Given the description of an element on the screen output the (x, y) to click on. 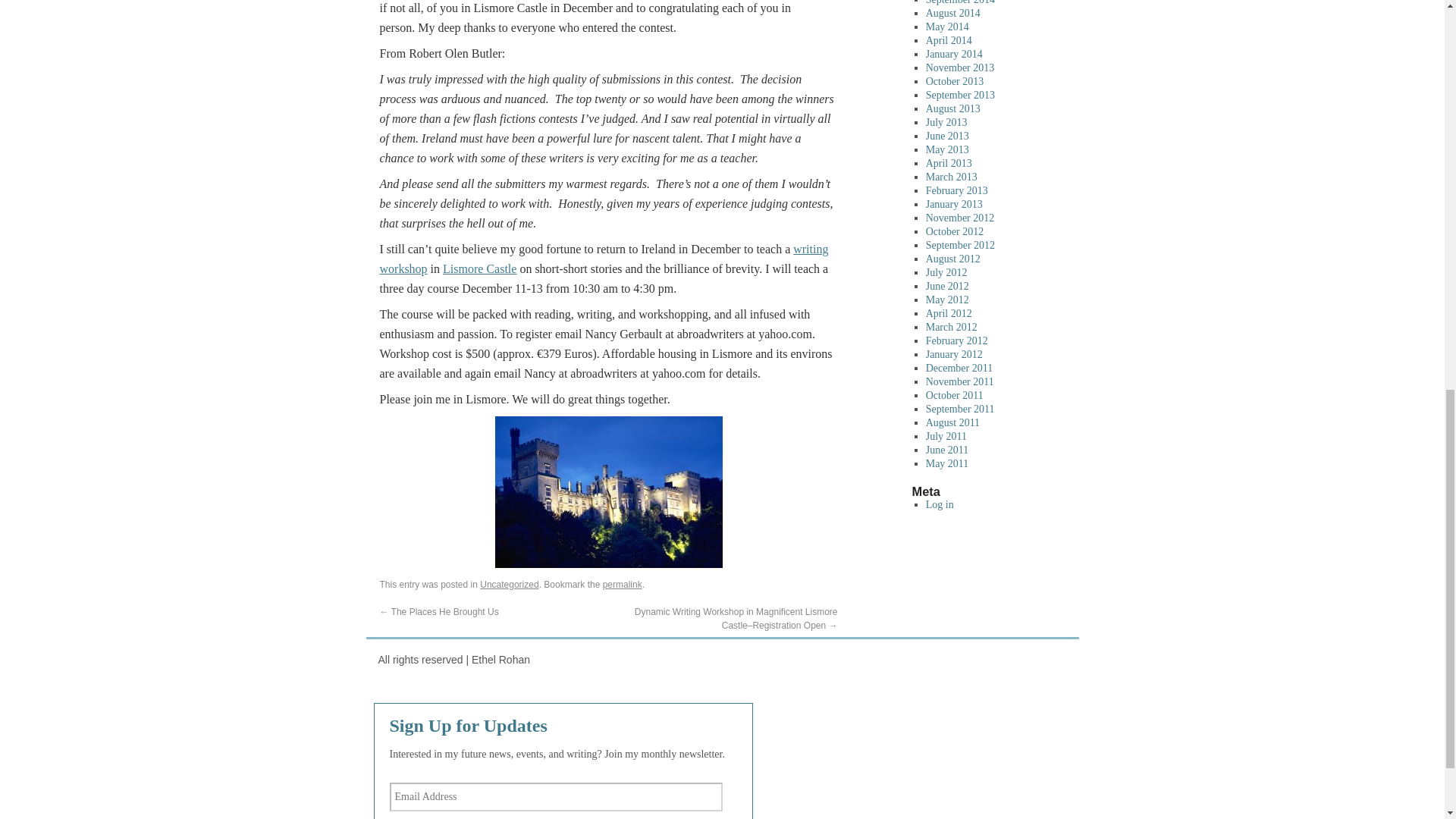
writing workshop (603, 258)
Ethel Rohan (453, 659)
permalink (622, 584)
Lismore Castle (479, 268)
Uncategorized (509, 584)
Lismore-Castle (609, 491)
